Given the description of an element on the screen output the (x, y) to click on. 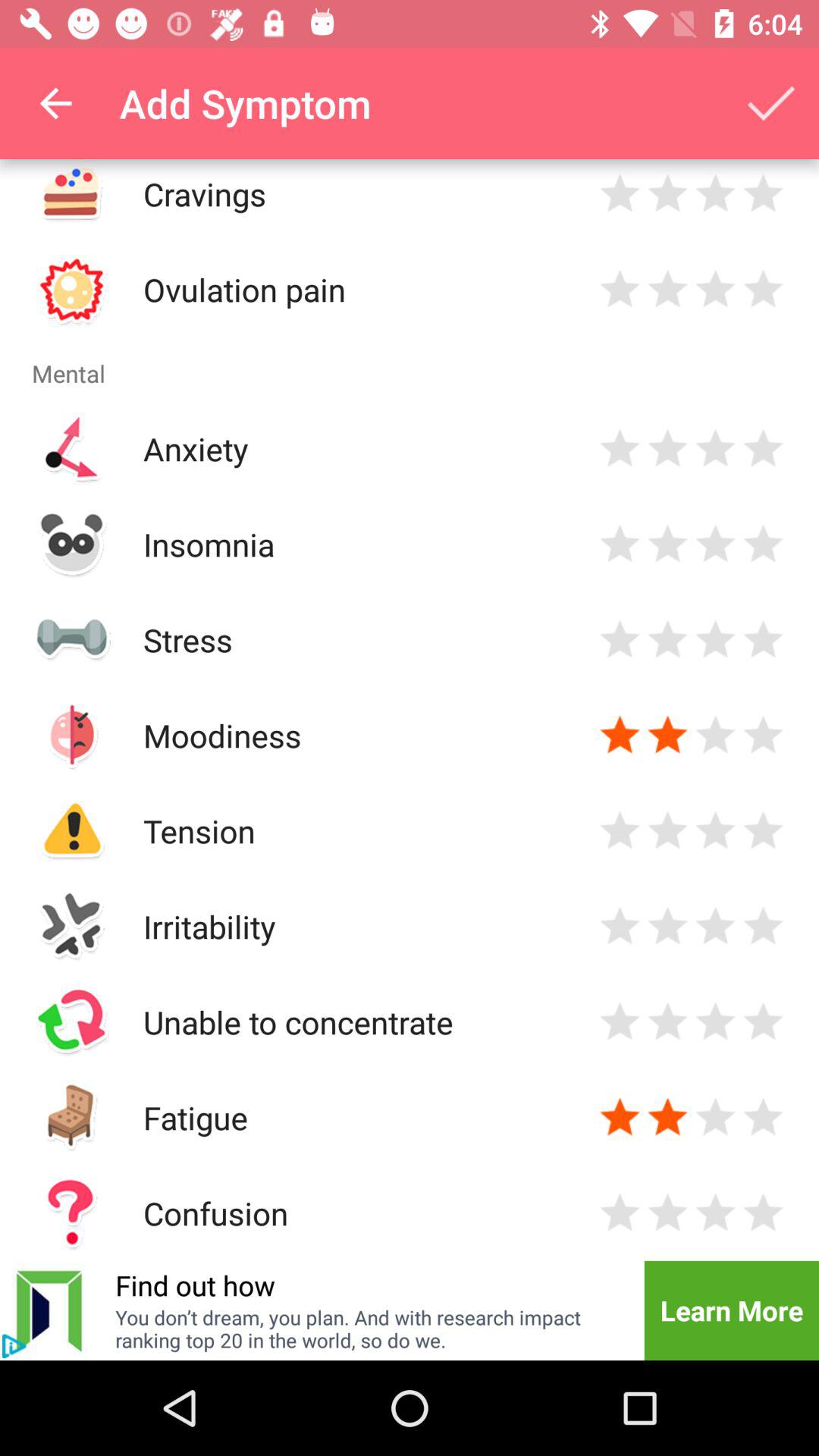
rank confusion symptom 2 stars out of 4 (667, 1213)
